Given the description of an element on the screen output the (x, y) to click on. 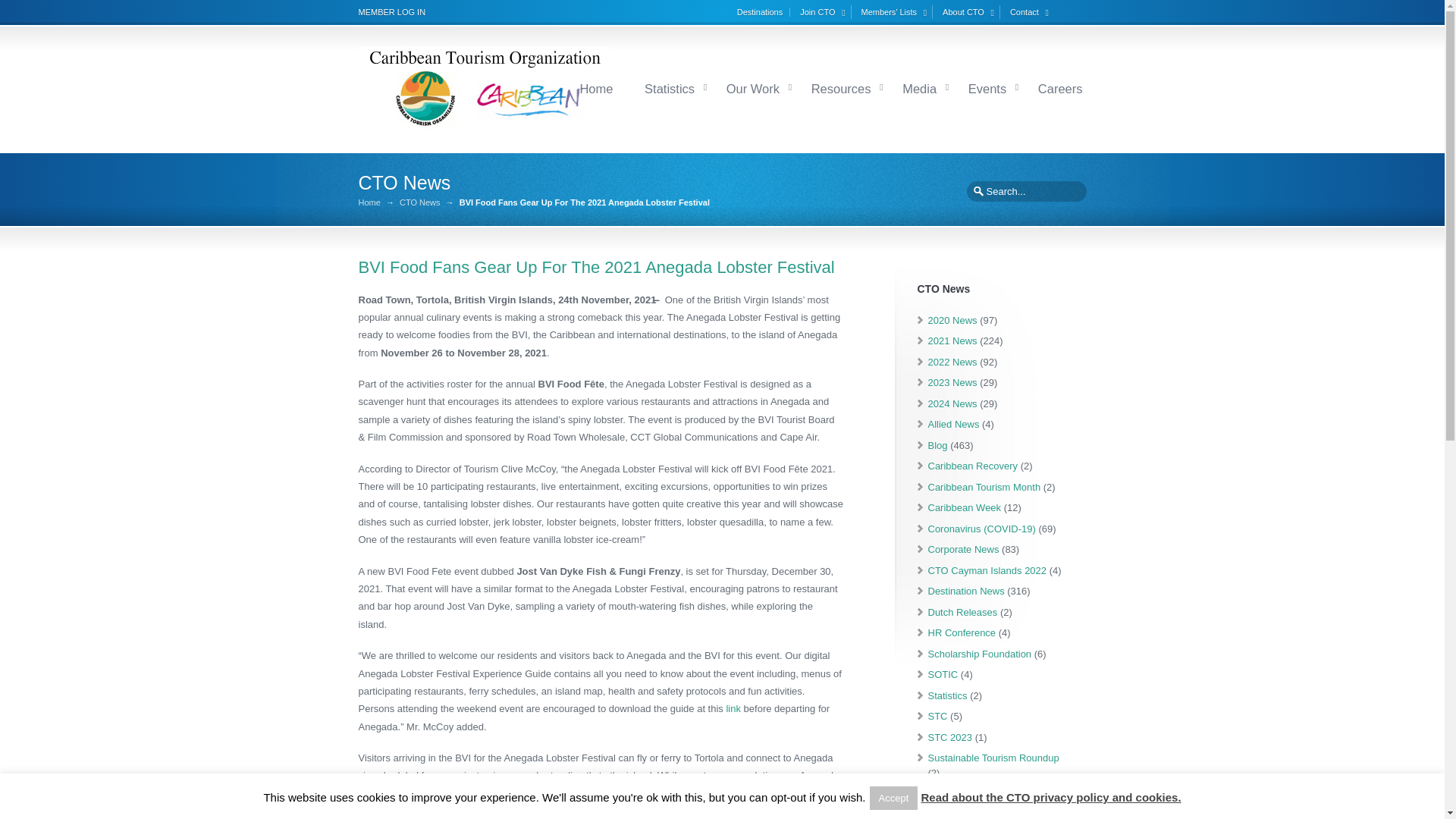
BVI Food Fans Gear Up For The 2021 Anegada Lobster Festival (596, 266)
Join CTO (823, 11)
Statistics (669, 88)
About CTO (970, 11)
Resources (841, 88)
Home (595, 88)
MEMBER LOG IN (391, 11)
Destinations (763, 11)
Contact (1030, 11)
Our Work (752, 88)
